Given the description of an element on the screen output the (x, y) to click on. 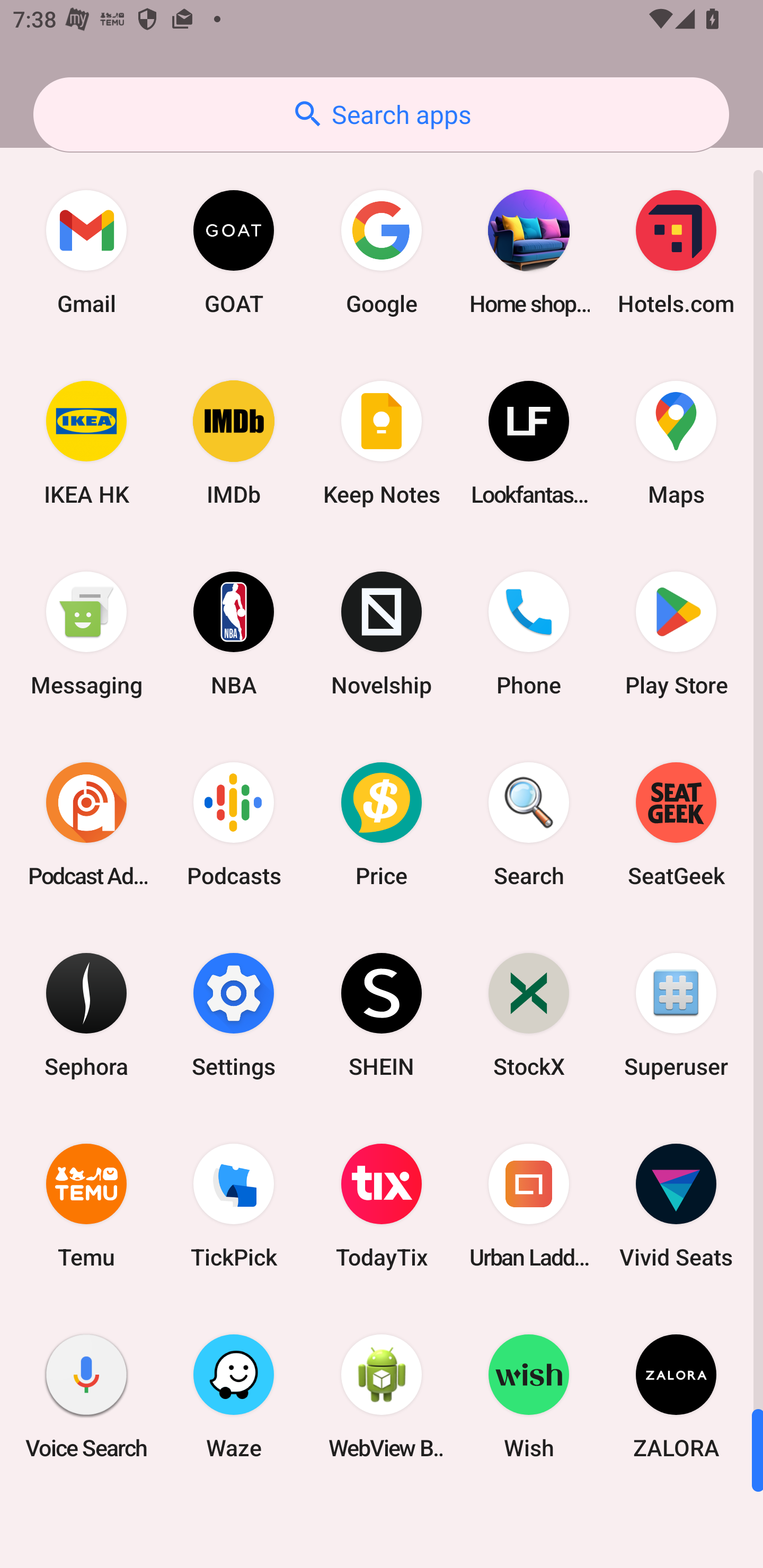
  Search apps (381, 114)
Gmail (86, 252)
GOAT (233, 252)
Google (381, 252)
Home shopping (528, 252)
Hotels.com (676, 252)
IKEA HK (86, 442)
IMDb (233, 442)
Keep Notes (381, 442)
Lookfantastic (528, 442)
Maps (676, 442)
Messaging (86, 633)
NBA (233, 633)
Novelship (381, 633)
Phone (528, 633)
Play Store (676, 633)
Podcast Addict (86, 823)
Podcasts (233, 823)
Price (381, 823)
Search (528, 823)
SeatGeek (676, 823)
Sephora (86, 1014)
Settings (233, 1014)
SHEIN (381, 1014)
StockX (528, 1014)
Superuser (676, 1014)
Temu (86, 1205)
TickPick (233, 1205)
TodayTix (381, 1205)
Urban Ladder (528, 1205)
Vivid Seats (676, 1205)
Voice Search (86, 1396)
Waze (233, 1396)
WebView Browser Tester (381, 1396)
Wish (528, 1396)
ZALORA (676, 1396)
